Given the description of an element on the screen output the (x, y) to click on. 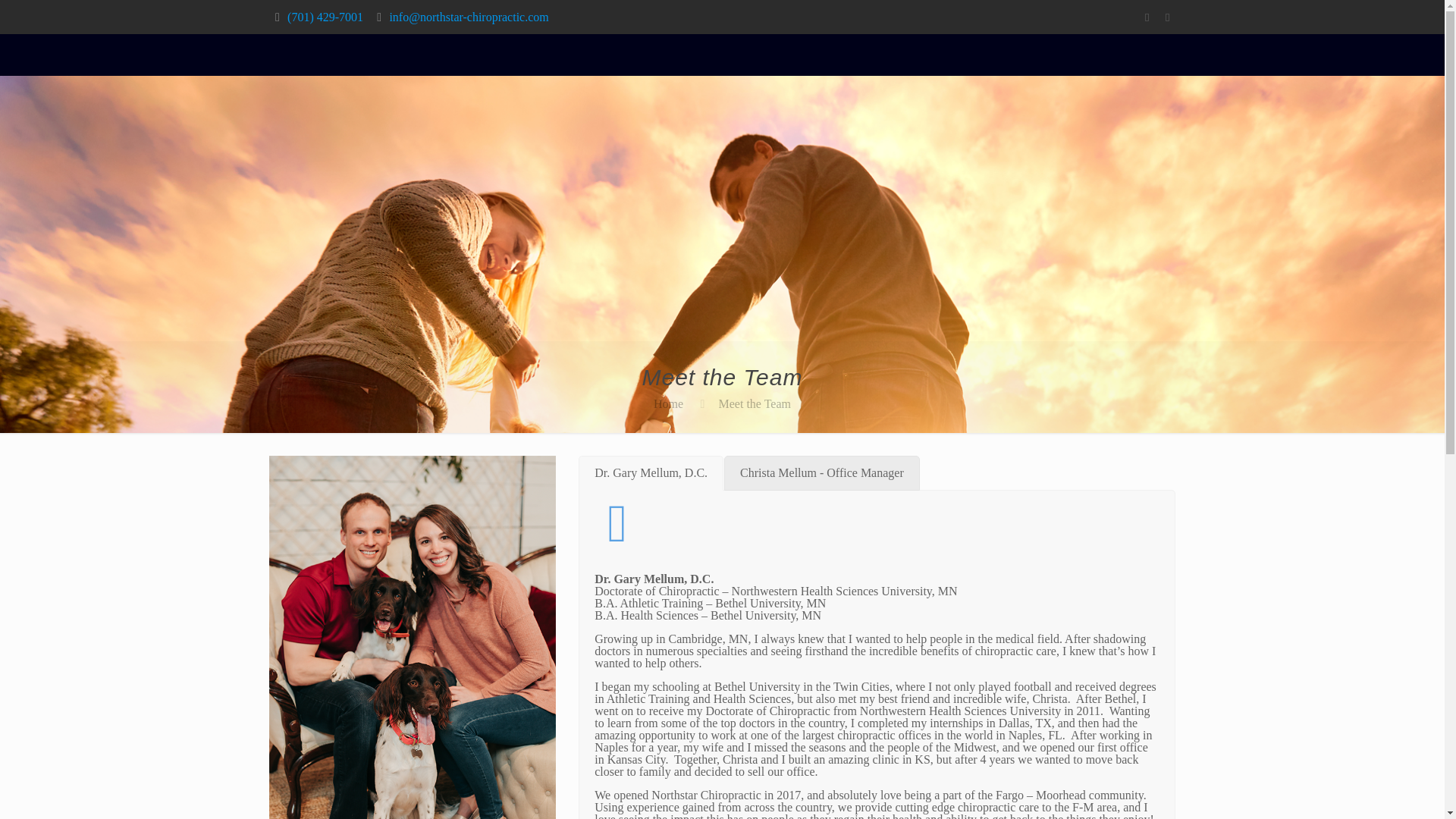
Home (667, 403)
Dr. Gary Mellum, D.C. (650, 472)
Facebook (1146, 17)
Instagram (1166, 17)
Christa Mellum - Office Manager (821, 472)
Meet the Team (754, 403)
